Given the description of an element on the screen output the (x, y) to click on. 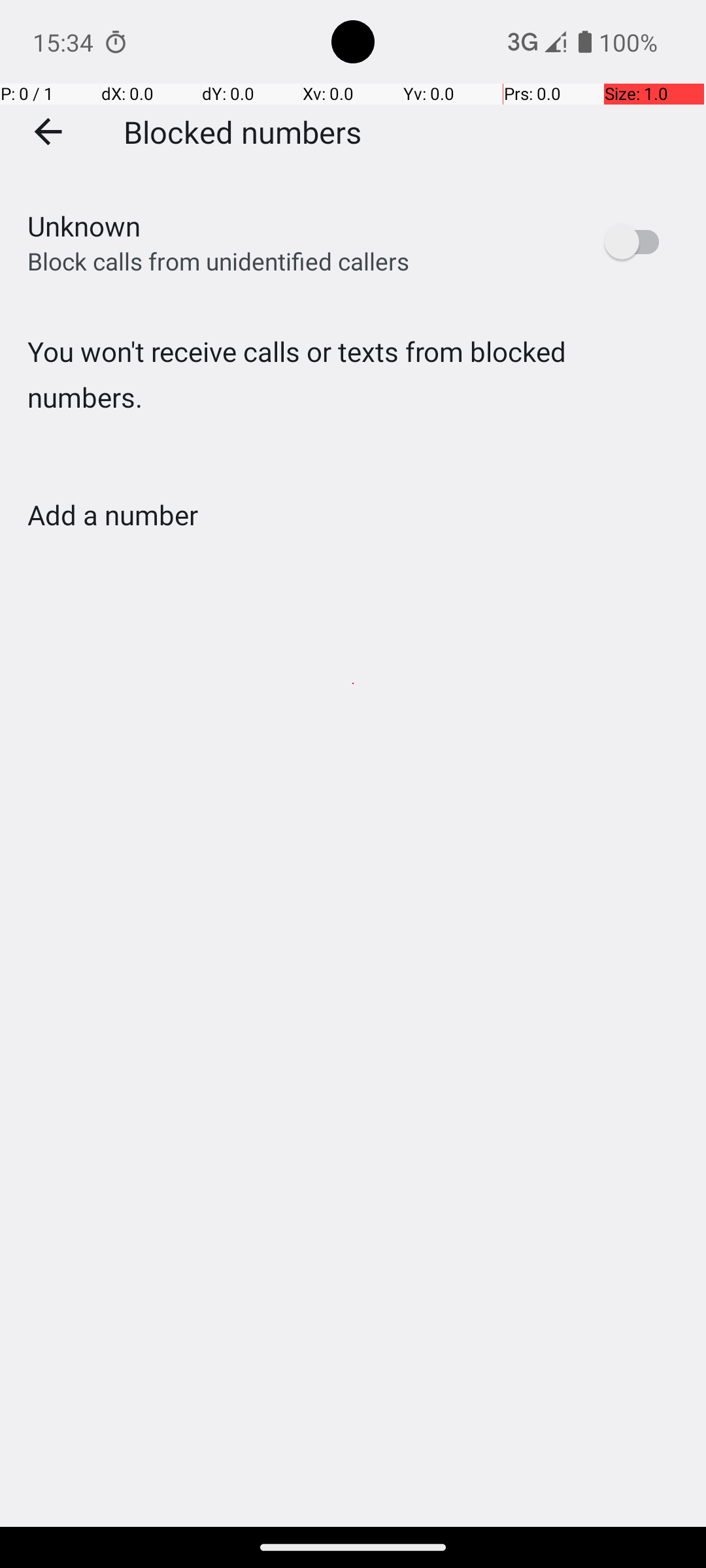
Blocked numbers Element type: android.widget.TextView (242, 131)
You won't receive calls or texts from blocked numbers. Element type: android.widget.TextView (352, 401)
Add a number Element type: android.widget.TextView (112, 514)
Unknown Element type: android.widget.TextView (83, 225)
Block calls from unidentified callers Element type: android.widget.TextView (218, 260)
